Given the description of an element on the screen output the (x, y) to click on. 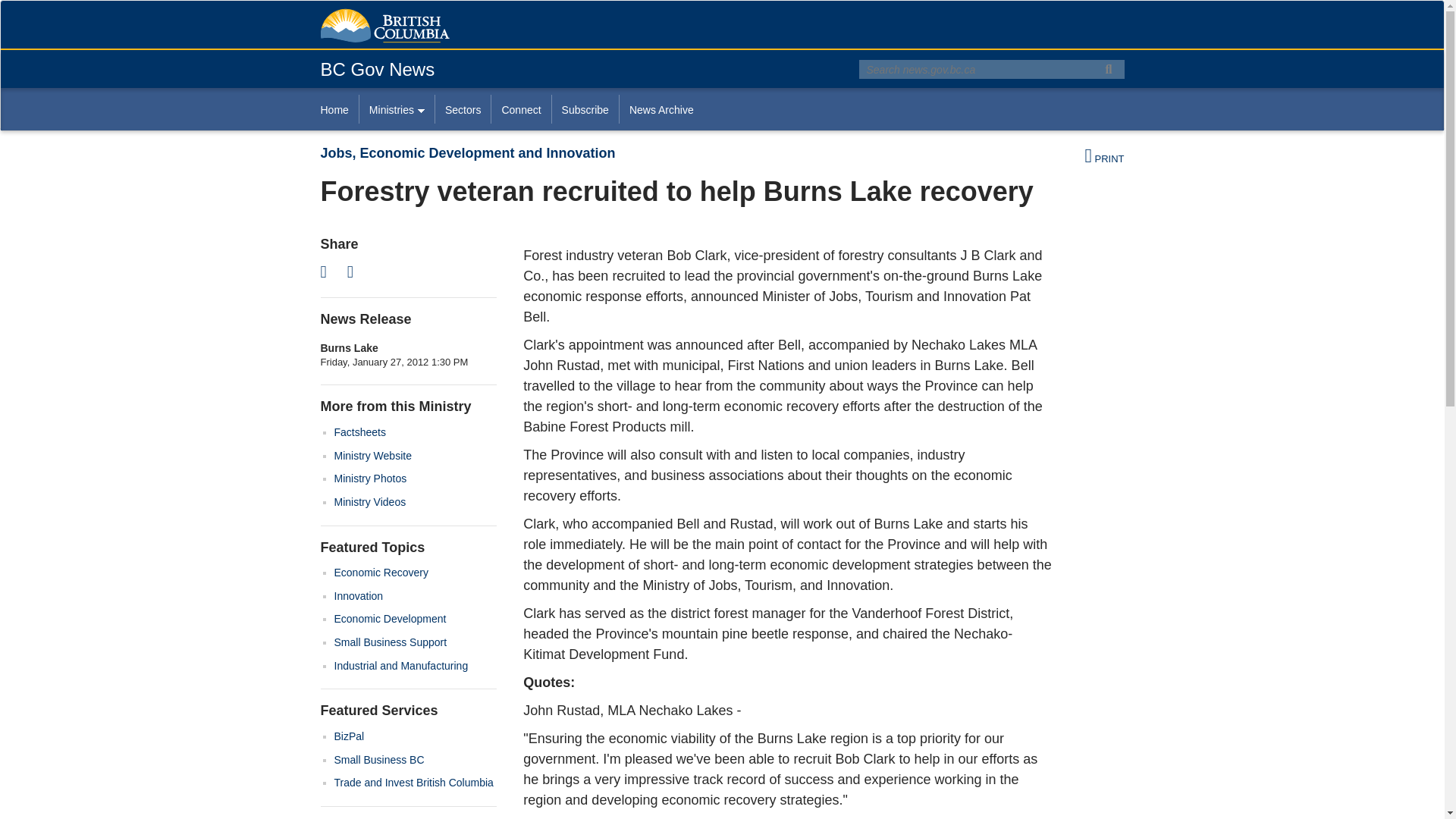
Ministries (395, 109)
Connect (520, 109)
Subscribe (584, 109)
Home (339, 109)
BC Gov News (376, 68)
News Archive (660, 109)
Government of B.C. (384, 25)
Sectors (461, 109)
